Given the description of an element on the screen output the (x, y) to click on. 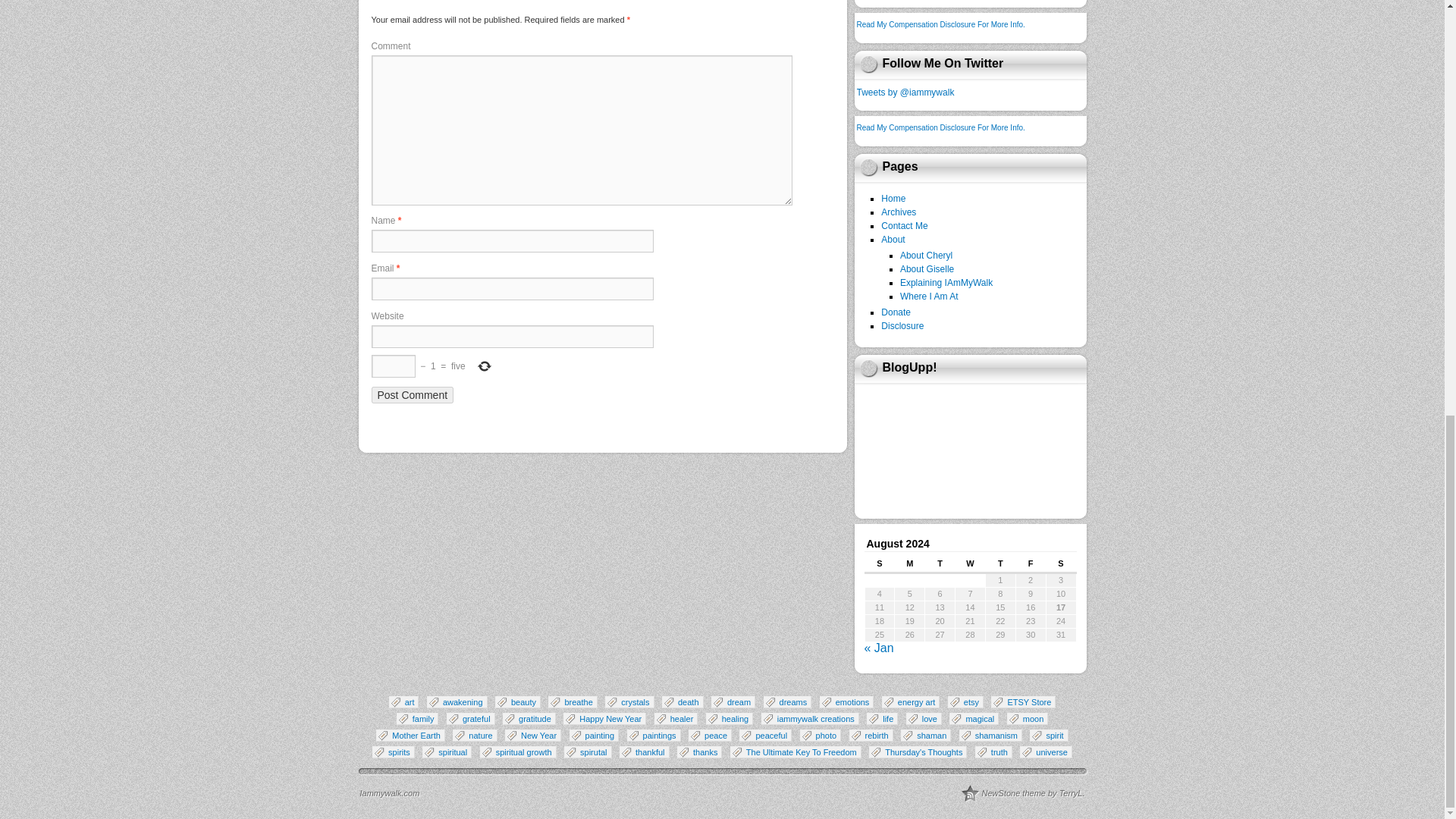
Wednesday (970, 566)
Thursday (999, 566)
Home (892, 198)
About (892, 239)
About Cheryl (925, 255)
Read My Compensation Disclosure For More Info. (941, 24)
Post Comment (412, 394)
Post Comment (412, 394)
Where I Am At (928, 296)
Disclosure (901, 326)
